Given the description of an element on the screen output the (x, y) to click on. 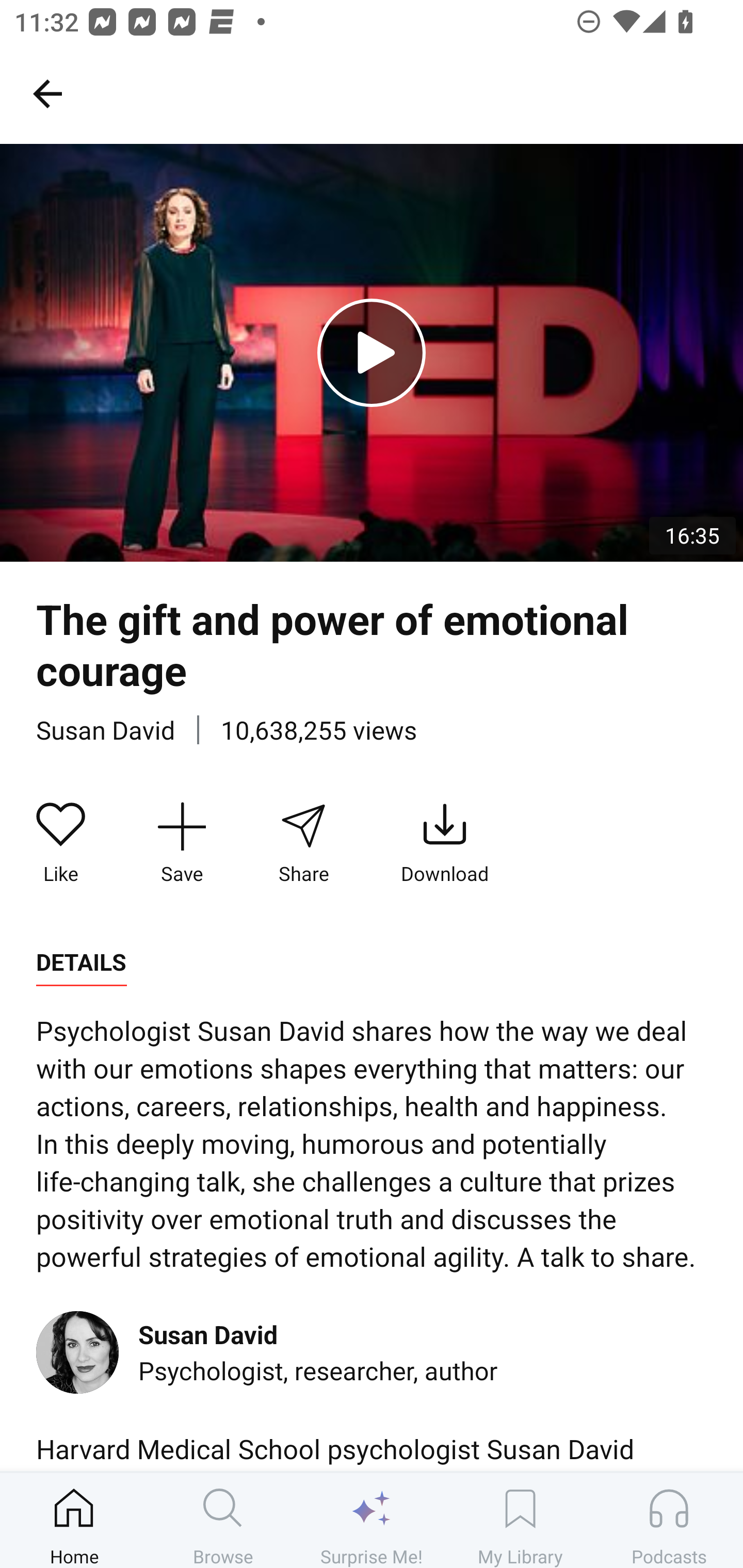
Home, back (47, 92)
Like (60, 843)
Save (181, 843)
Share (302, 843)
Download (444, 843)
DETAILS (80, 962)
Home (74, 1520)
Browse (222, 1520)
Surprise Me! (371, 1520)
My Library (519, 1520)
Podcasts (668, 1520)
